Given the description of an element on the screen output the (x, y) to click on. 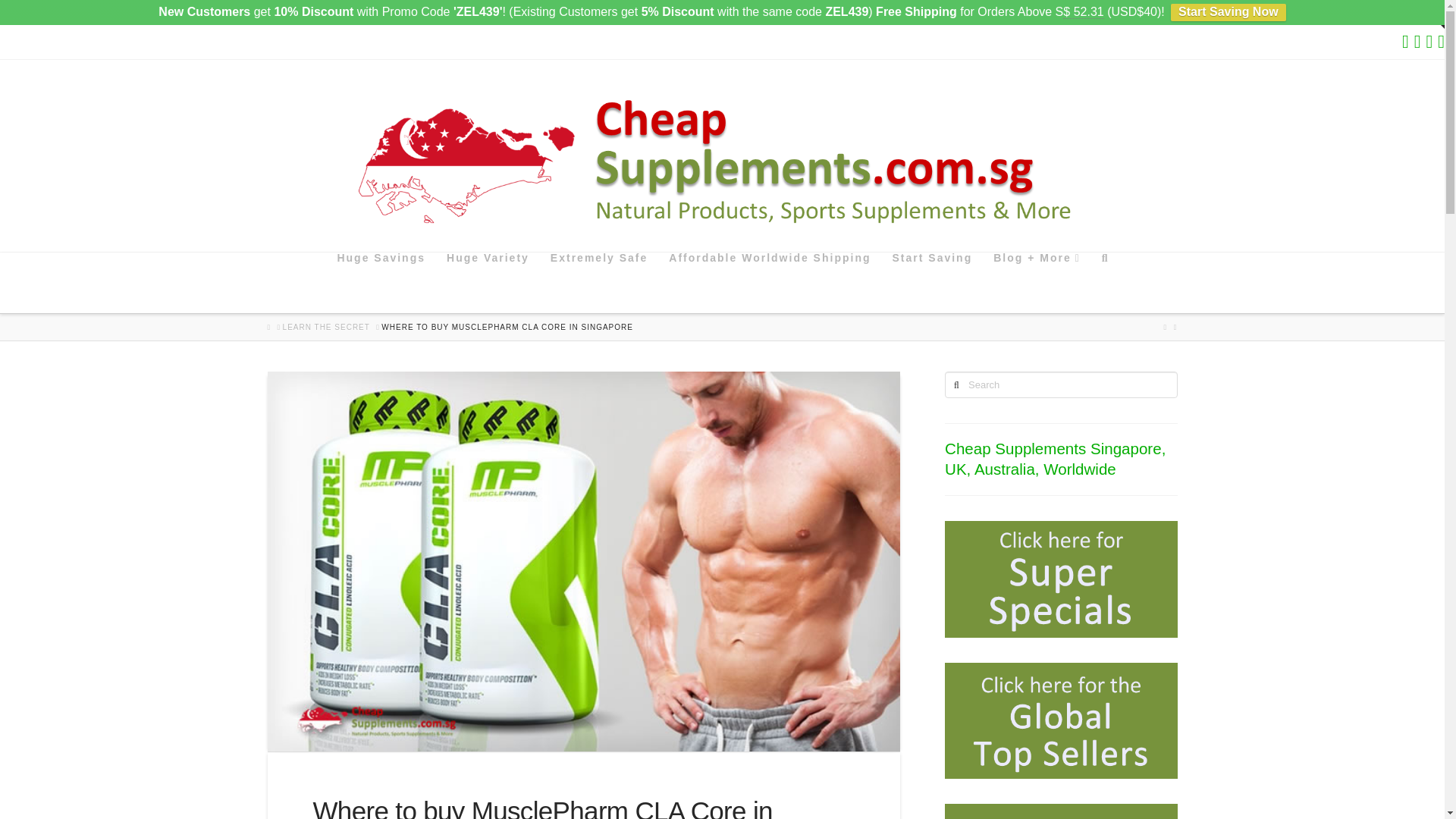
Huge Variety (486, 282)
Start Saving Now (1227, 12)
Affordable Worldwide Shipping (769, 282)
Extremely Safe (598, 282)
Huge Savings (379, 282)
You Are Here (507, 327)
Start Saving (931, 282)
